Given the description of an element on the screen output the (x, y) to click on. 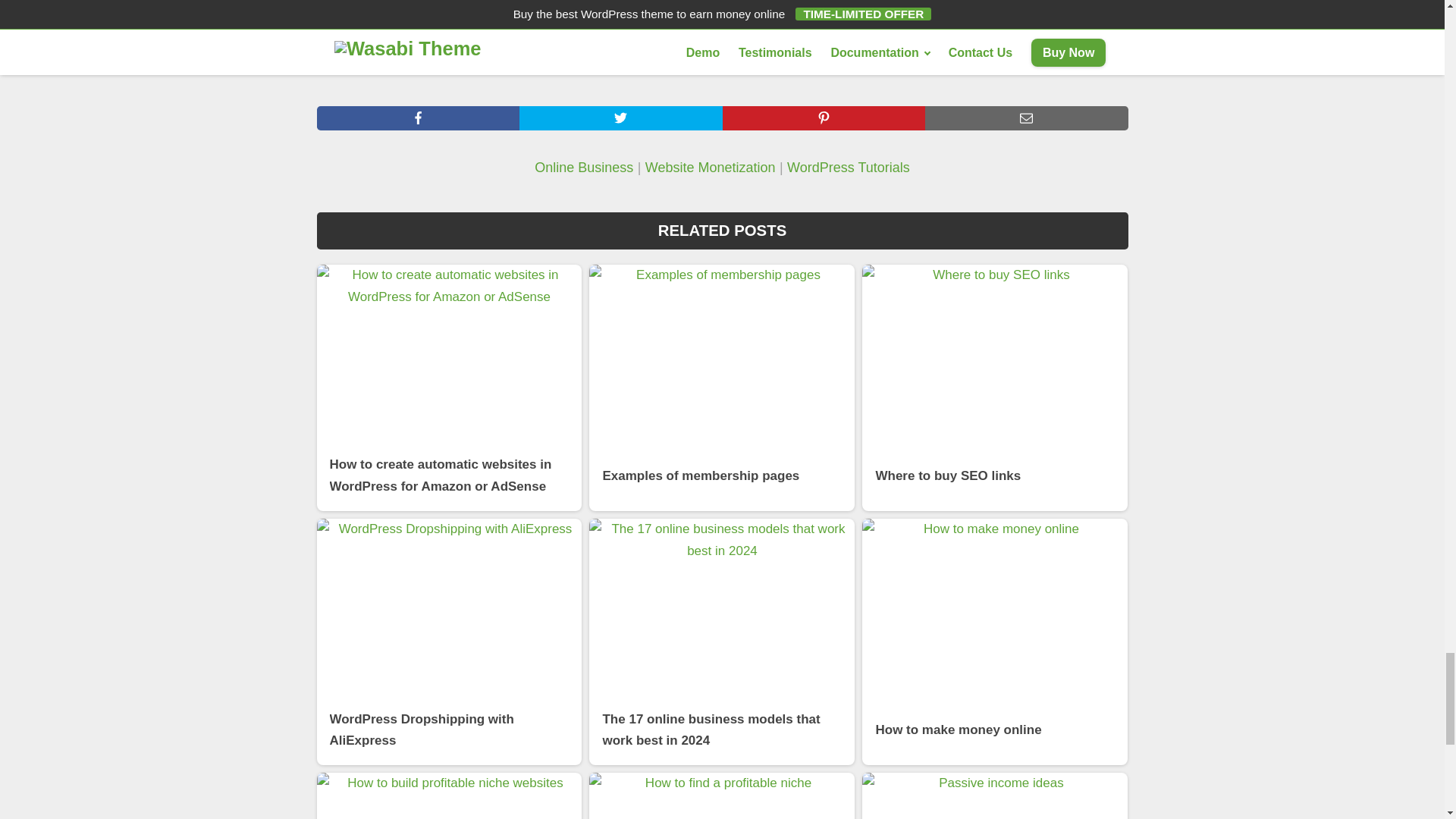
Online Business (583, 167)
WordPress Dropshipping with AliExpress (449, 641)
Examples of membership pages (721, 387)
The 17 online business models that work best in 2024 (721, 641)
Where to buy SEO links (993, 387)
WordPress Tutorials (848, 167)
How to make money online (993, 641)
Website Monetization (710, 167)
